Given the description of an element on the screen output the (x, y) to click on. 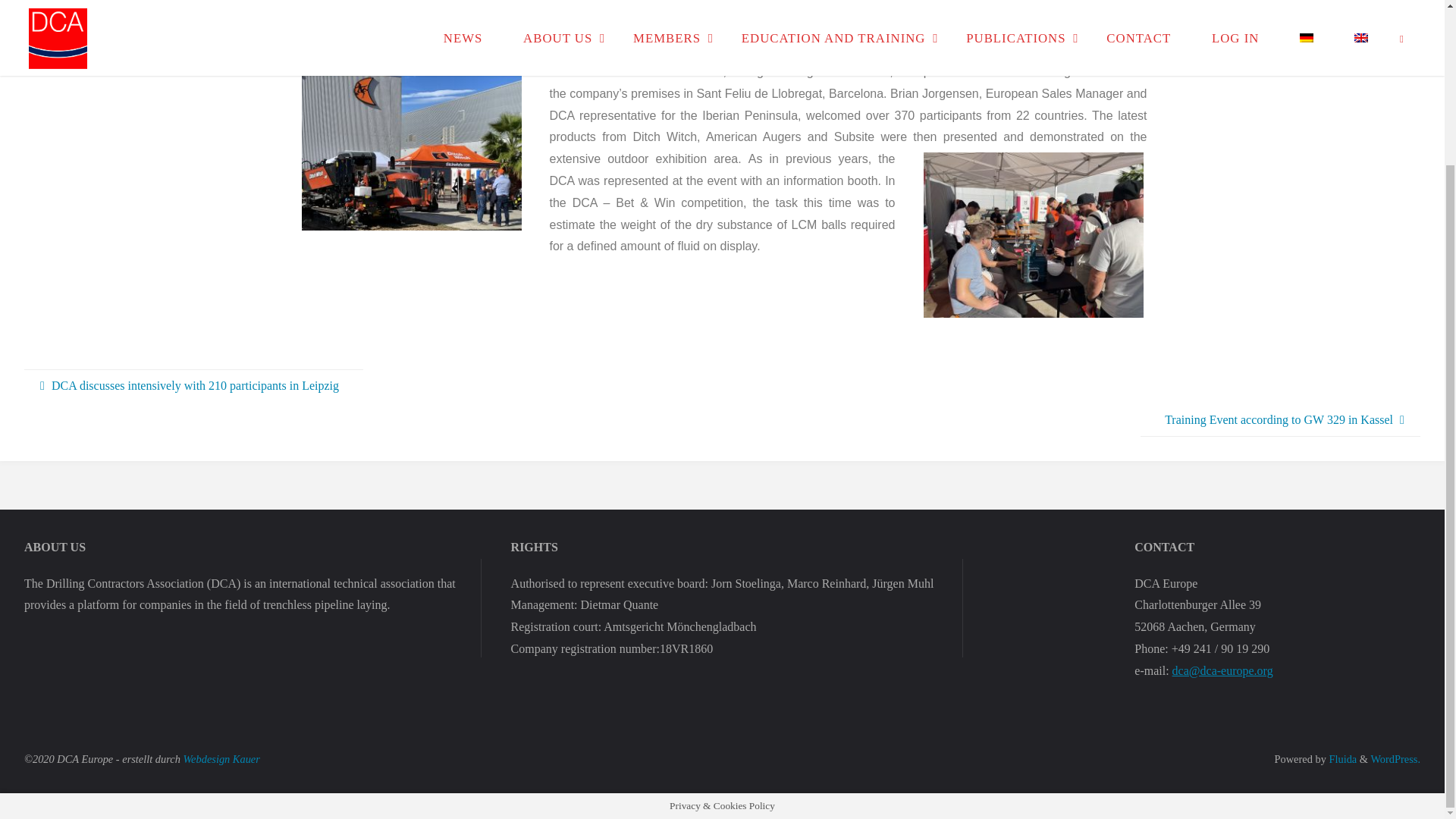
Semantic Personal Publishing Platform (1395, 758)
Fluida WordPress Theme by Cryout Creations (1341, 758)
